Given the description of an element on the screen output the (x, y) to click on. 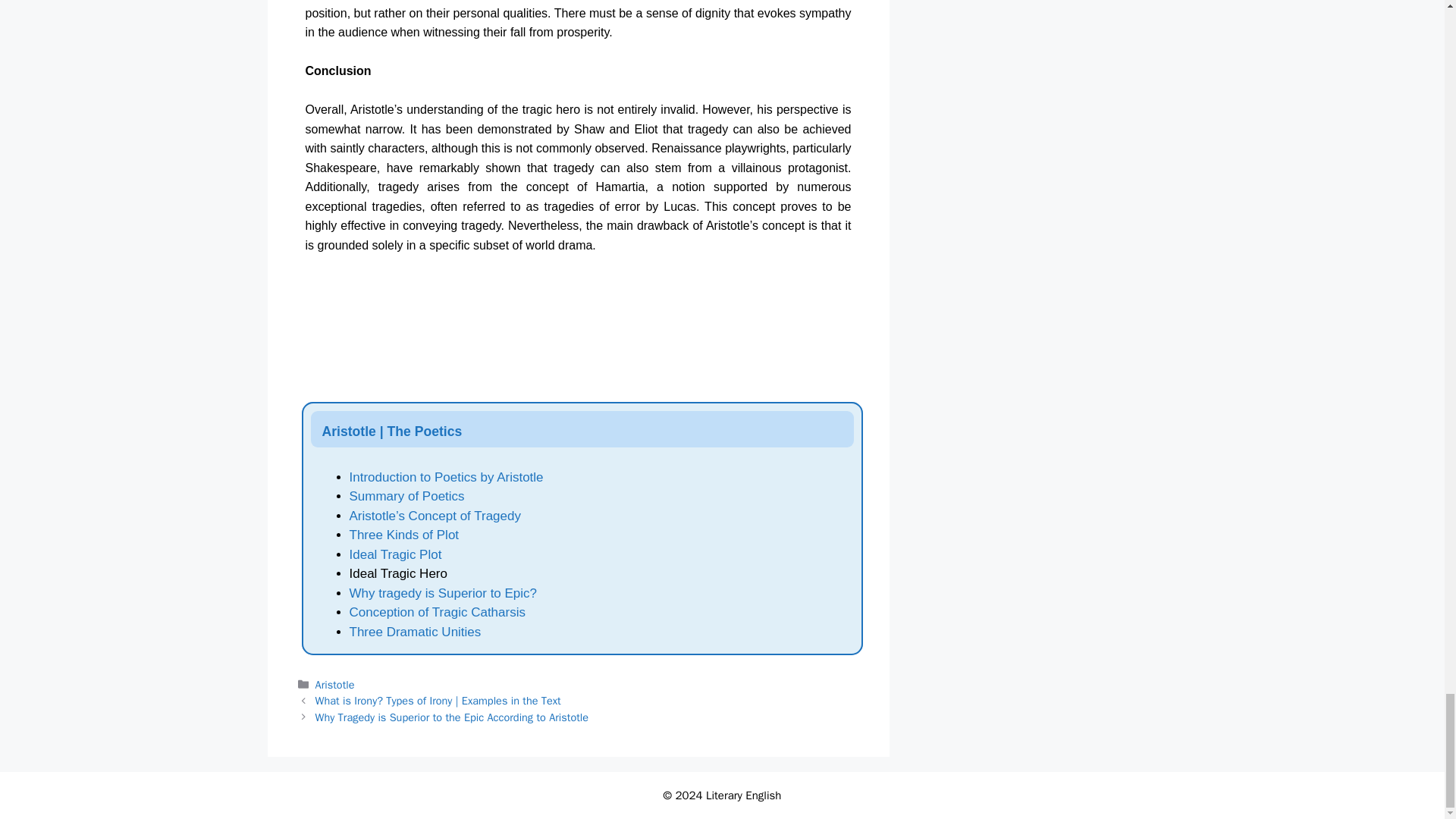
Three Dramatic Unities (414, 631)
Why tragedy is Superior to Epic? (443, 593)
Conception of Tragic Catharsis (436, 612)
Summary of Poetics (406, 495)
Aristotle (335, 684)
Why Tragedy is Superior to the Epic According to Aristotle (451, 716)
Three Kinds of Plot (403, 534)
Introduction to Poetics by Aristotle (446, 477)
Ideal Tragic Plot (395, 554)
